Given the description of an element on the screen output the (x, y) to click on. 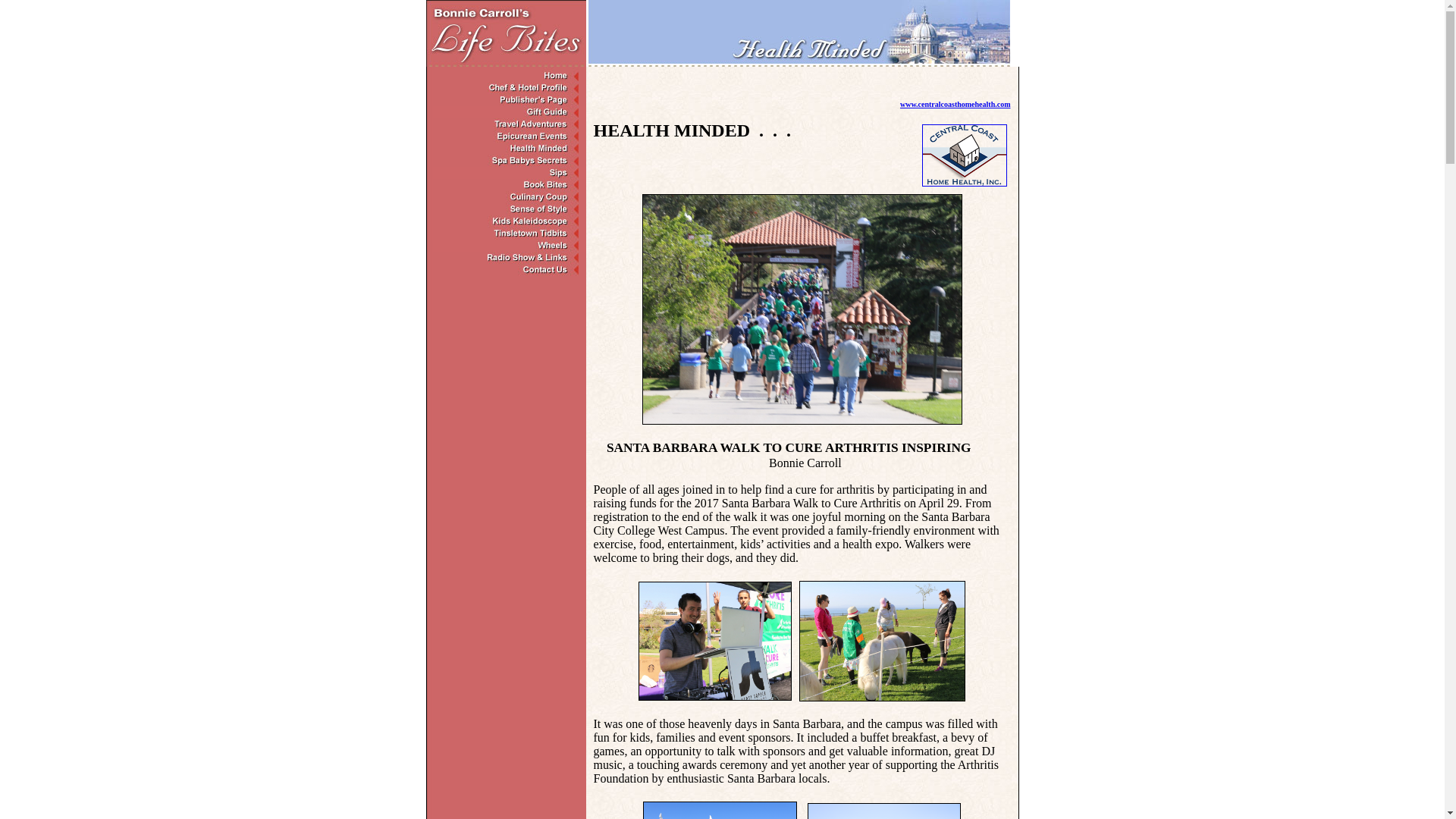
www.centralcoasthomehealth.com (954, 102)
